Given the description of an element on the screen output the (x, y) to click on. 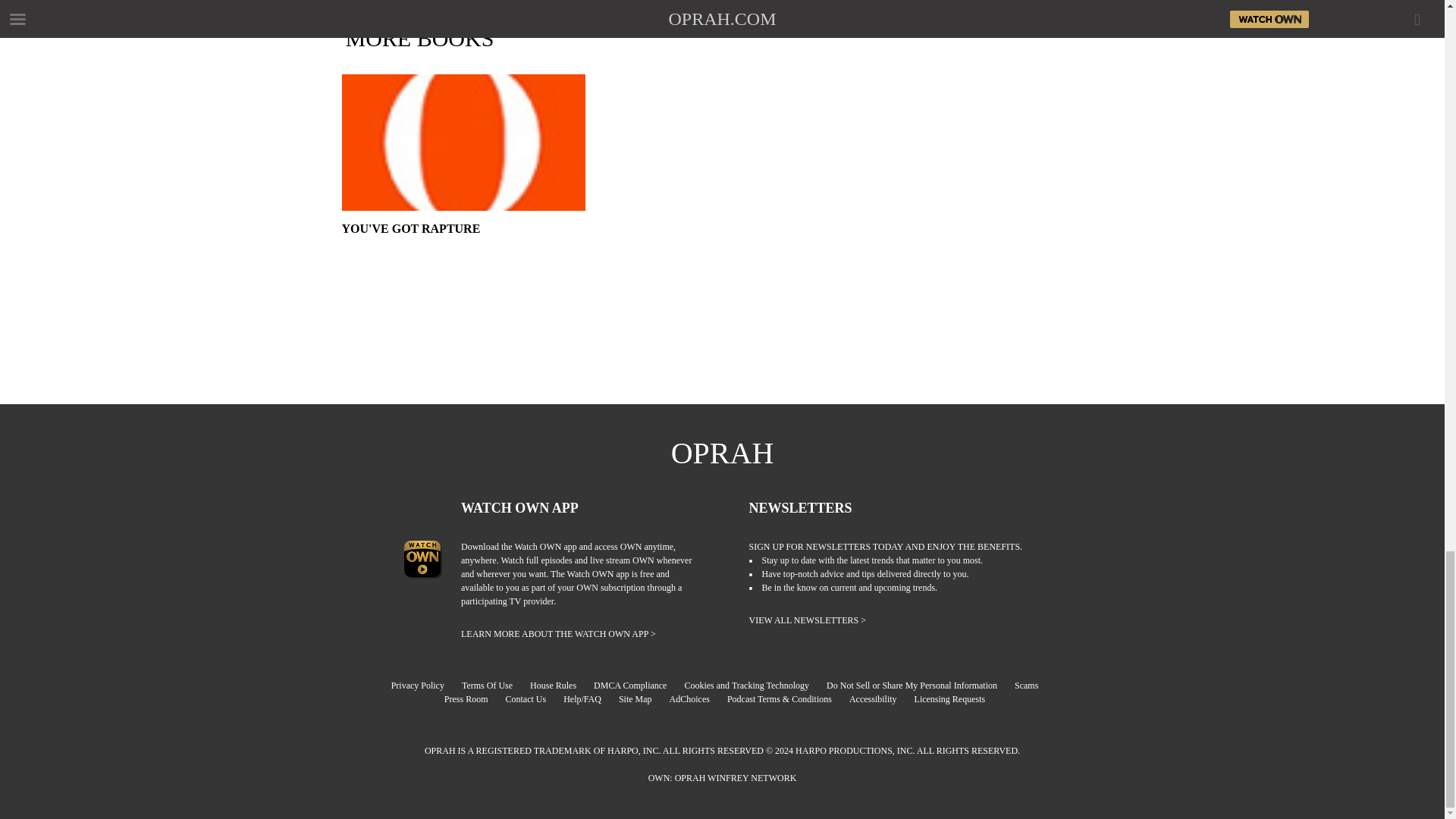
Do Not Sell or Share My Personal Information (919, 685)
Contact Us (532, 698)
Scams (1033, 685)
AdChoices (697, 698)
Licensing Requests (957, 698)
Press Room (473, 698)
YOU'VE GOT RAPTURE (462, 248)
Site Map (642, 698)
DMCA Compliance (637, 685)
Accessibility (880, 698)
House Rules (560, 685)
Cookies and Tracking Technology (754, 685)
Terms Of Use (494, 685)
Privacy Policy (425, 685)
OPRAH (722, 453)
